Given the description of an element on the screen output the (x, y) to click on. 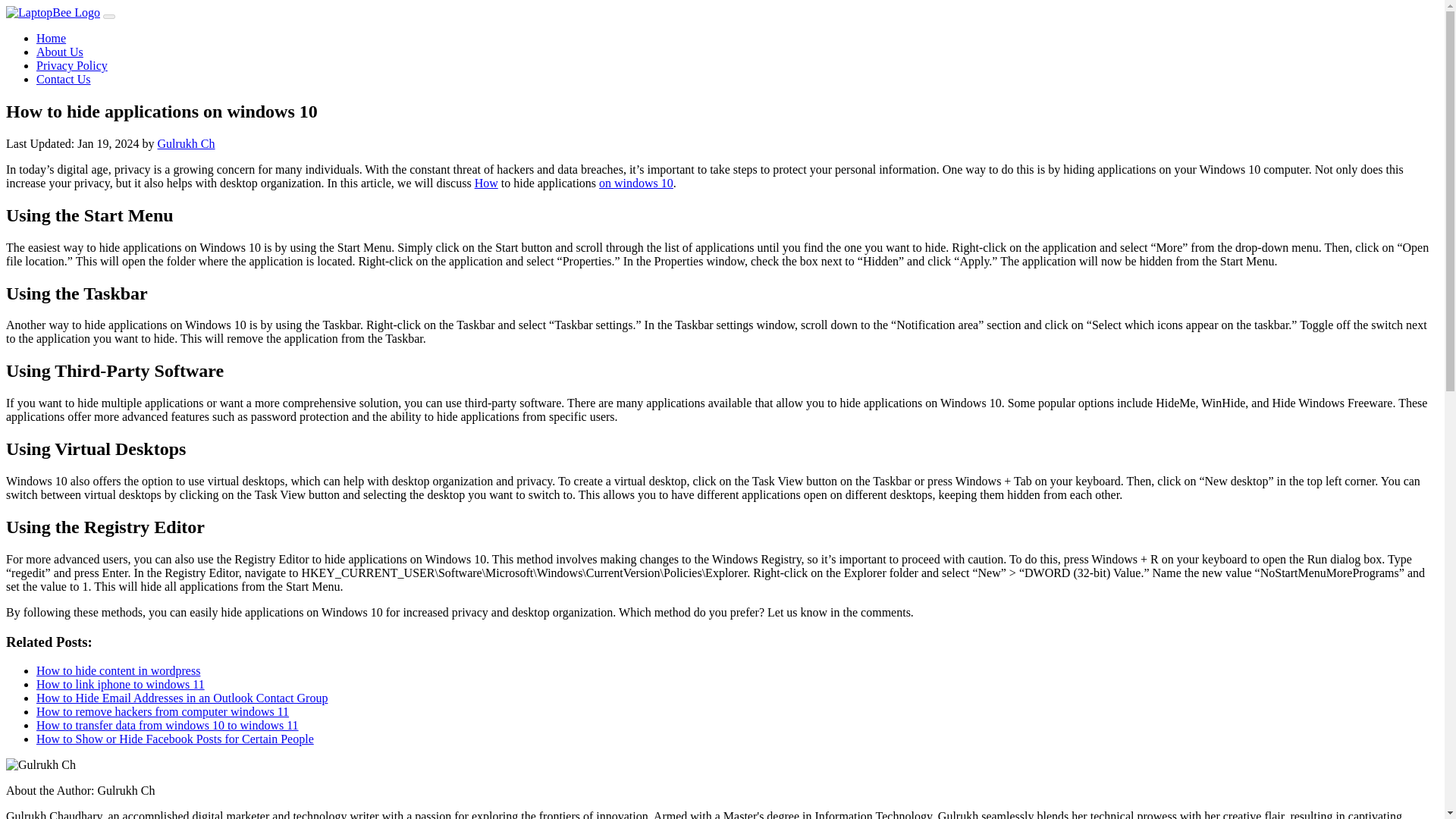
How to transfer data from windows 10 to windows 11 (167, 725)
How (485, 182)
How to hide content in wordpress (118, 670)
How to Show or Hide Facebook Posts for Certain People (175, 738)
Home (50, 38)
on windows 10 (635, 182)
About Us (59, 51)
Gulrukh Ch (186, 143)
Contact Us (63, 78)
How to Hide Email Addresses in an Outlook Contact Group (181, 697)
How to remove hackers from computer windows 11 (162, 711)
How to link iphone to windows 11 (120, 684)
Posts by Gulrukh Ch (186, 143)
Privacy Policy (71, 65)
